Given the description of an element on the screen output the (x, y) to click on. 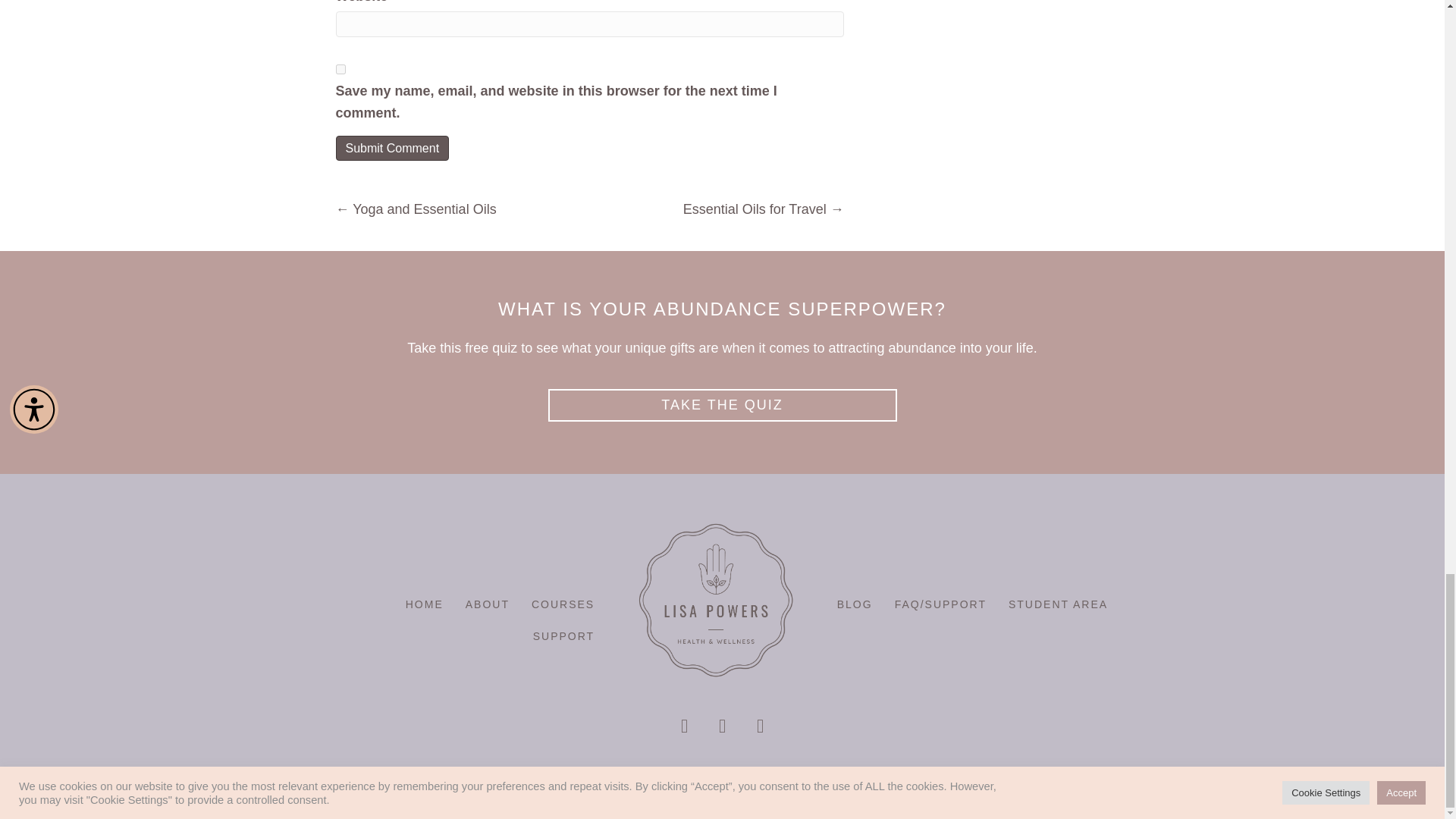
ABOUT (486, 603)
TAKE THE QUIZ (721, 405)
Submit Comment (391, 147)
Lisa-Powers-Logo-2 (715, 600)
HOME (424, 603)
Instagram (759, 725)
COURSES (563, 603)
yes (339, 69)
Facebook (683, 725)
Pinterest (721, 725)
Submit Comment (391, 147)
